Given the description of an element on the screen output the (x, y) to click on. 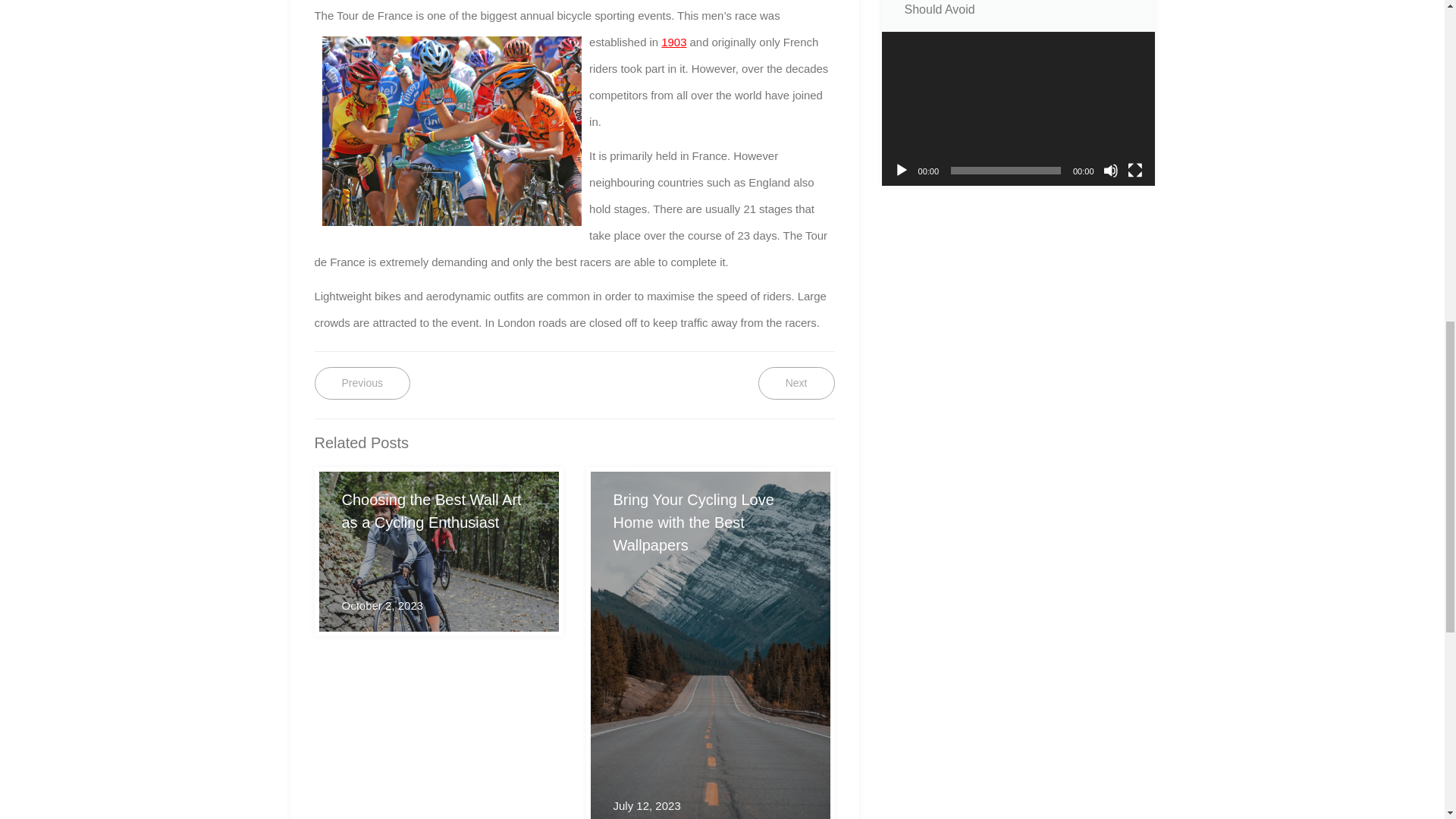
Mute (1110, 170)
Play (361, 382)
1903 (900, 170)
Fullscreen (673, 42)
